Given the description of an element on the screen output the (x, y) to click on. 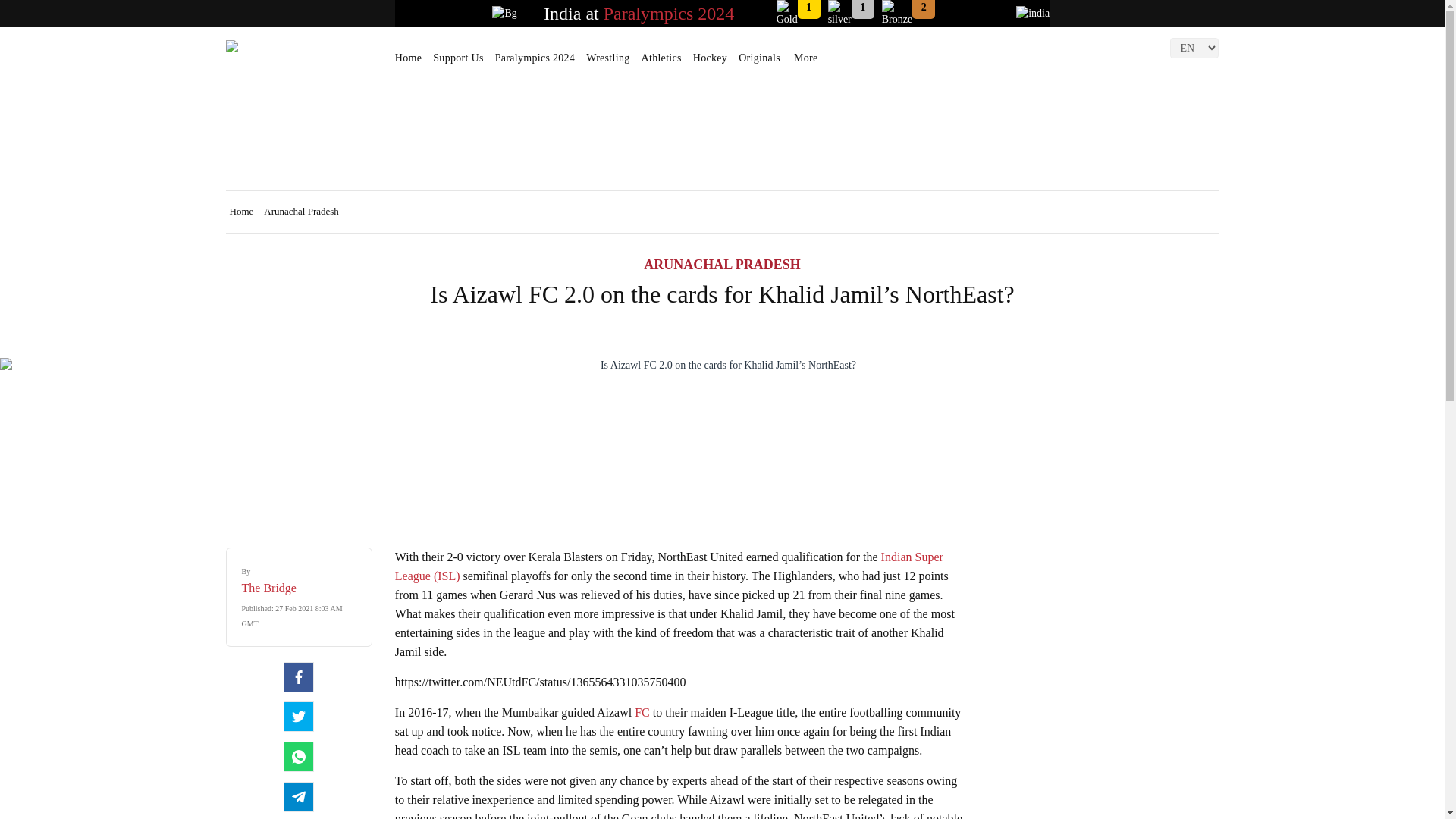
Wrestling (607, 63)
Support Us (457, 63)
Paralympics 2024 (669, 13)
Paralympics 2024 (535, 63)
